Given the description of an element on the screen output the (x, y) to click on. 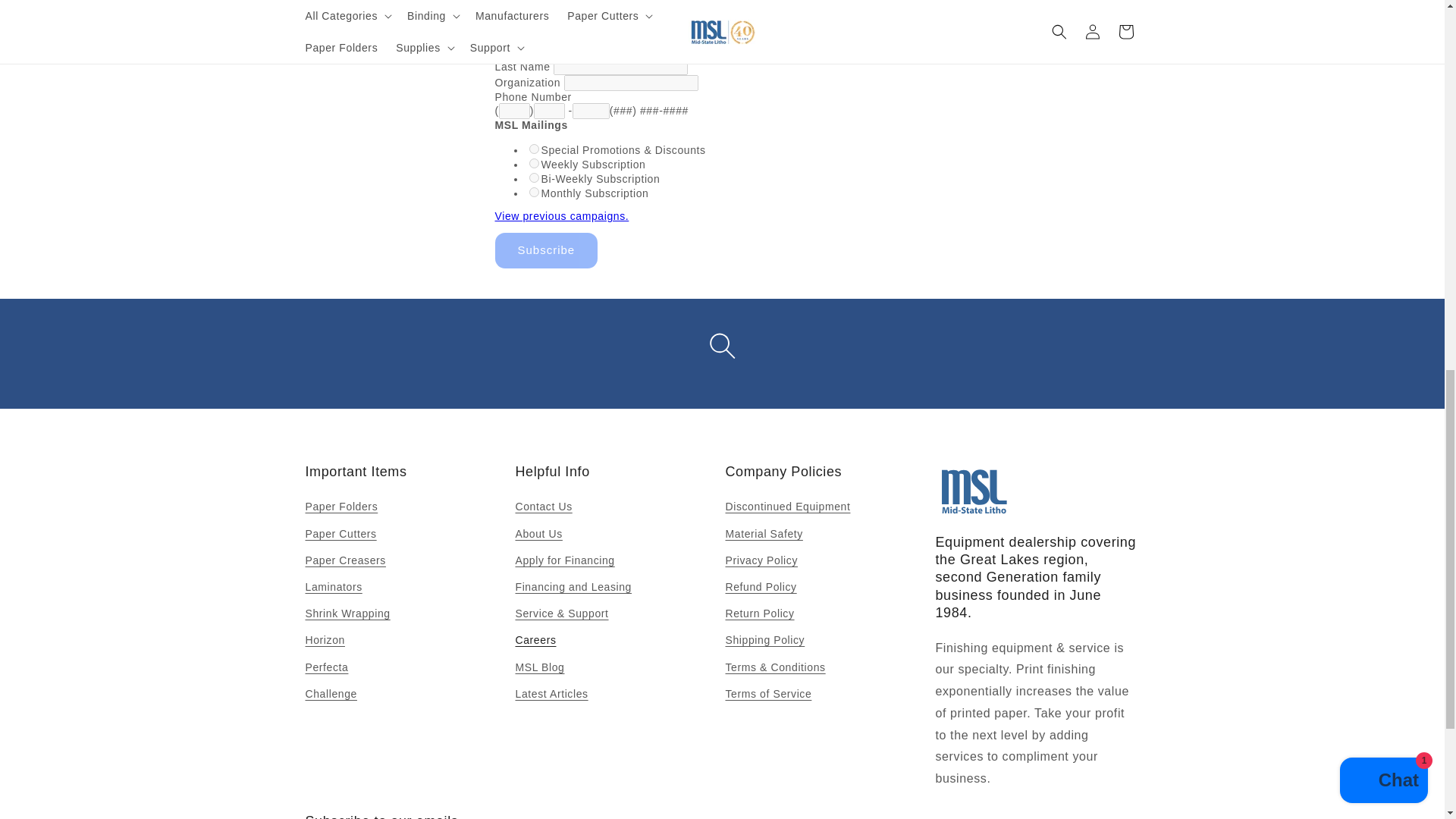
Monthly Subscription (533, 192)
View previous campaigns (561, 215)
Weekly Subscription (533, 163)
Bi-Weekly Subscription (533, 177)
Subscribe (545, 250)
